Given the description of an element on the screen output the (x, y) to click on. 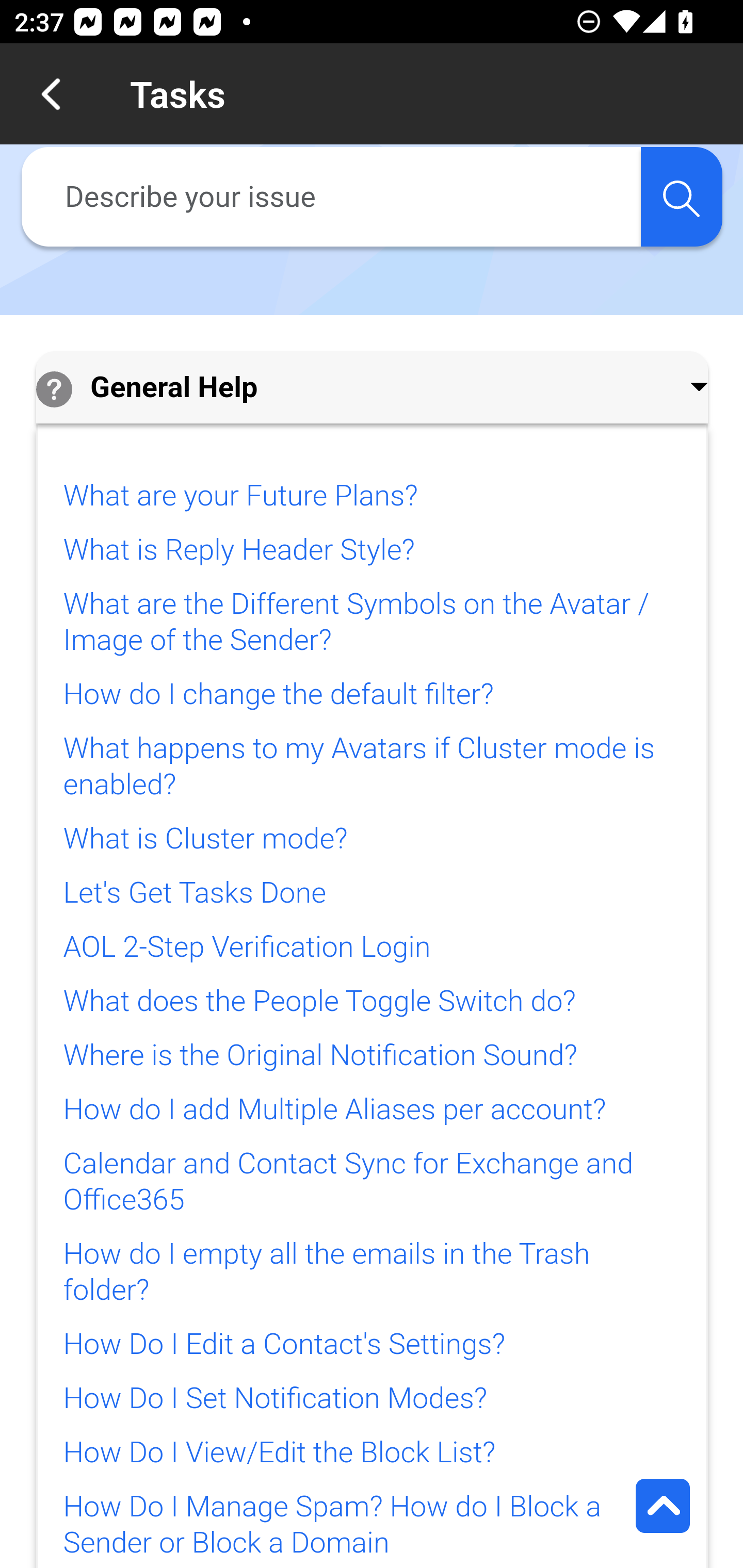
Navigate up (50, 93)
search (680, 196)
What are your Future Plans? (240, 496)
What is Reply Header Style? (238, 549)
How do I change the default filter? (277, 695)
What is Cluster mode? (204, 839)
Let's Get Tasks Done (193, 892)
AOL 2-Step Verification Login (246, 947)
What does the People Toggle Switch do? (319, 1001)
Where is the Original Notification Sound? (319, 1056)
How do I add Multiple Aliases per account? (334, 1109)
How do I empty all the emails in the Trash folder? (325, 1272)
How Do I Edit a Contact's Settings? (283, 1344)
How Do I Set Notification Modes? (274, 1399)
How Do I View/Edit the Block List? (278, 1452)
